Given the description of an element on the screen output the (x, y) to click on. 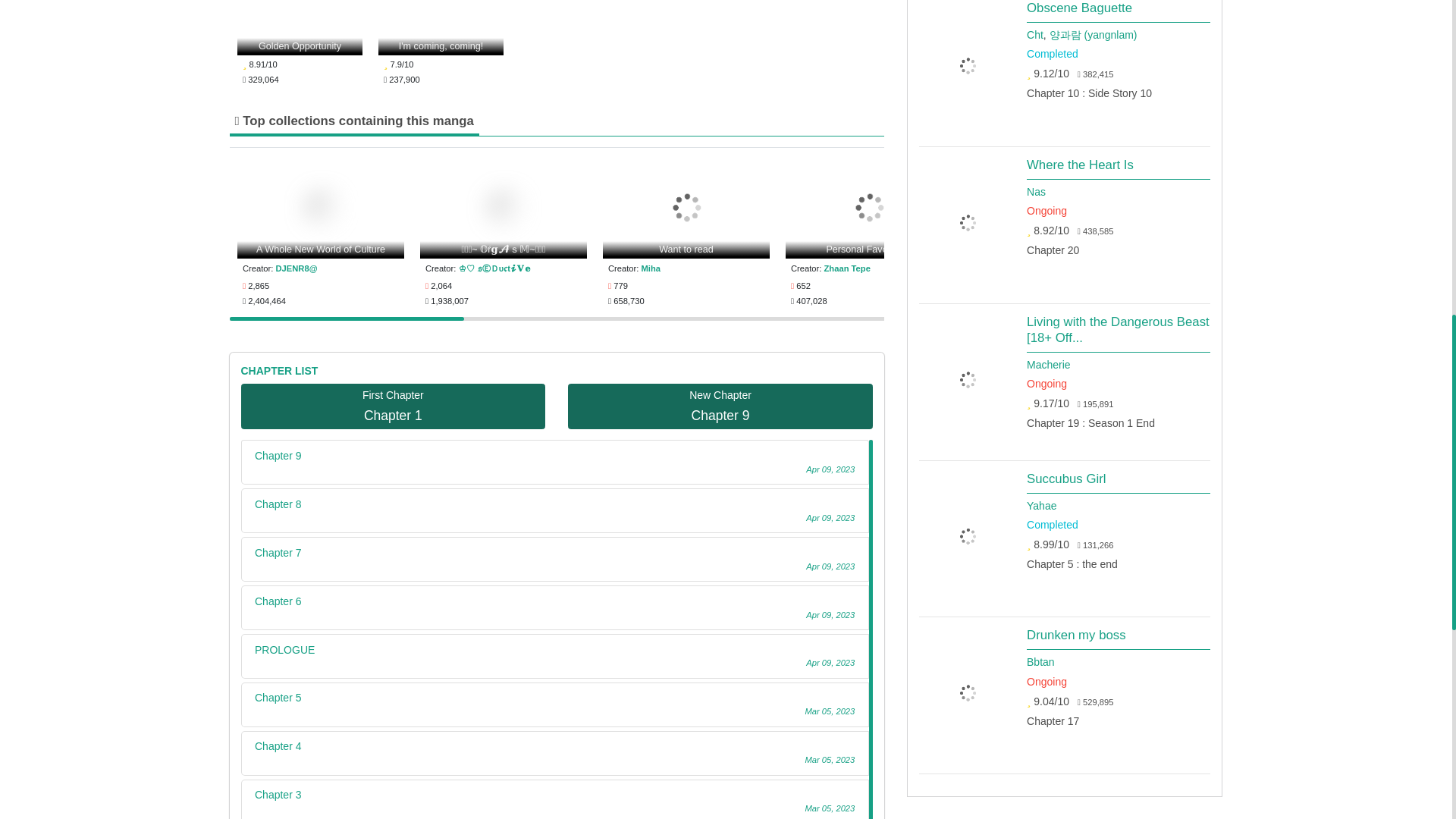
A Whole New World of Culture (320, 206)
Golden Opportunity (299, 27)
I'm coming, coming! (440, 27)
Want to read (686, 206)
